Given the description of an element on the screen output the (x, y) to click on. 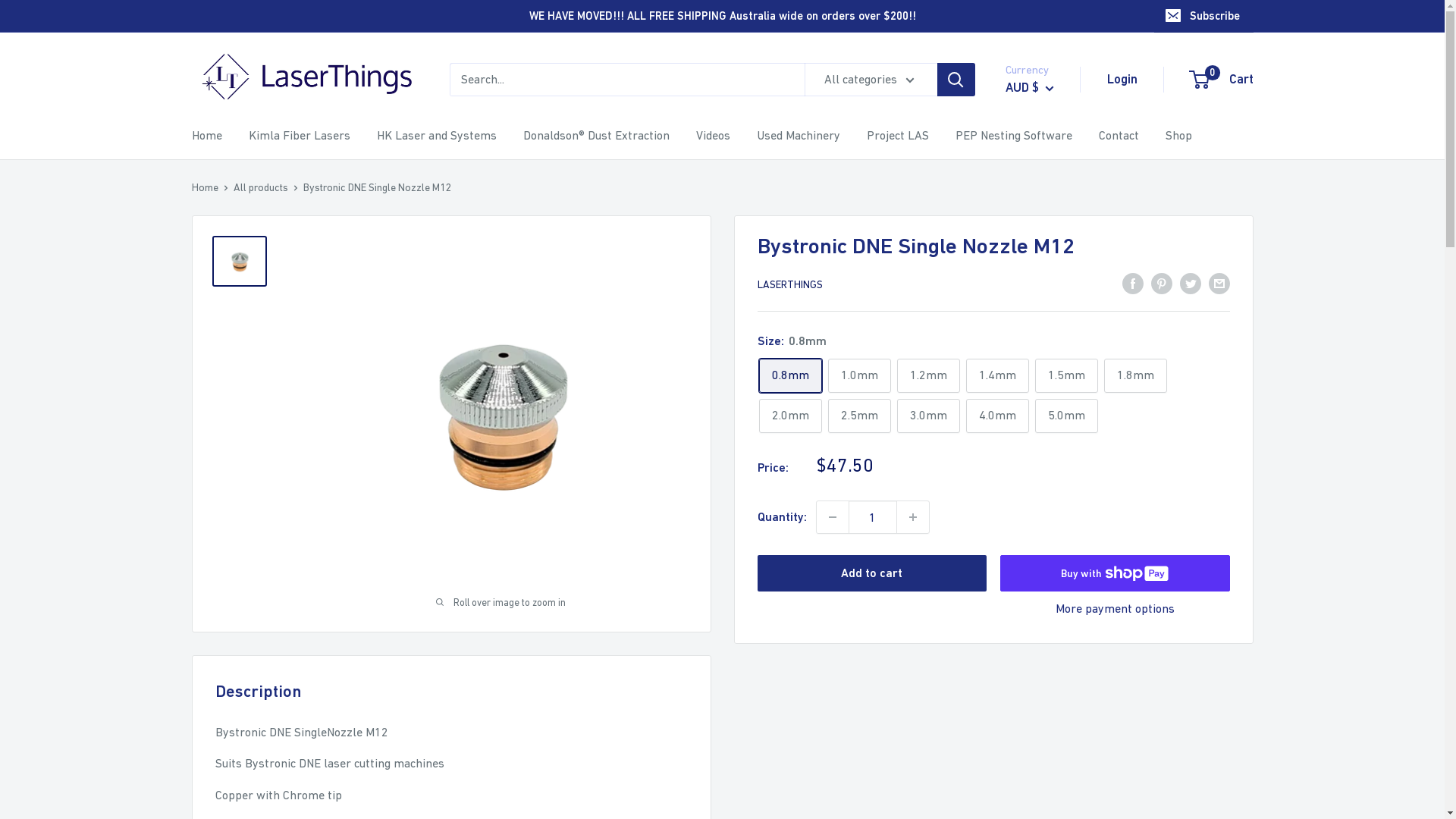
BDT Element type: text (229, 67)
GYD Element type: text (229, 629)
BND Element type: text (1051, 566)
AUD Element type: text (1051, 380)
GMD Element type: text (229, 569)
BSD Element type: text (229, 167)
Used Machinery Element type: text (798, 135)
BWP Element type: text (1051, 635)
Home Element type: text (206, 135)
AED Element type: text (1051, 265)
More payment options Element type: text (1115, 608)
EUR Element type: text (229, 489)
CRC Element type: text (1051, 774)
Subscribe Element type: text (1203, 15)
GTQ Element type: text (229, 610)
INR Element type: text (229, 750)
Contact Element type: text (1118, 135)
JMD Element type: text (229, 790)
All products Element type: text (260, 187)
CAD Element type: text (1051, 681)
DZD Element type: text (229, 428)
HK Laser and Systems Element type: text (435, 135)
Shop Element type: text (1177, 135)
BZD Element type: text (1051, 658)
IDR Element type: text (229, 710)
CDF Element type: text (1051, 705)
Increase quantity by 1 Element type: hover (912, 517)
BOB Element type: text (1051, 589)
BBD Element type: text (1051, 473)
FJD Element type: text (229, 509)
BZD Element type: text (229, 208)
Decrease quantity by 1 Element type: hover (831, 517)
ILS Element type: text (229, 729)
Login Element type: text (1122, 79)
BWP Element type: text (229, 188)
0
Cart Element type: text (1221, 79)
DJF Element type: text (229, 368)
Add to cart Element type: text (871, 573)
EGP Element type: text (229, 449)
AMD Element type: text (1051, 334)
BOB Element type: text (229, 148)
CHF Element type: text (1051, 727)
ANG Element type: text (1051, 357)
PEP Nesting Software Element type: text (1013, 135)
CVE Element type: text (1051, 797)
BND Element type: text (229, 127)
Project LAS Element type: text (897, 135)
BIF Element type: text (229, 108)
CNY Element type: text (229, 288)
Kimla Fiber Lasers Element type: text (299, 135)
AUD $ Element type: text (1029, 87)
CHF Element type: text (229, 268)
CRC Element type: text (229, 309)
BAM Element type: text (229, 27)
BAM Element type: text (1051, 450)
AZN Element type: text (1051, 426)
FKP Element type: text (229, 529)
AFN Element type: text (1051, 288)
ETB Element type: text (229, 469)
BGN Element type: text (229, 88)
DKK Element type: text (229, 389)
CZK Element type: text (229, 349)
HNL Element type: text (229, 669)
Videos Element type: text (713, 135)
CVE Element type: text (229, 328)
LASERTHINGS Element type: text (789, 284)
AWG Element type: text (1051, 404)
ISK Element type: text (229, 770)
CDF Element type: text (229, 248)
CNY Element type: text (1051, 751)
GBP Element type: text (229, 549)
GNF Element type: text (229, 589)
LaserThings Element type: text (304, 79)
ALL Element type: text (1051, 311)
BDT Element type: text (1051, 496)
BSD Element type: text (1051, 612)
HKD Element type: text (229, 650)
BIF Element type: text (1051, 542)
HUF Element type: text (229, 690)
BGN Element type: text (1051, 519)
Home Element type: text (204, 187)
DOP Element type: text (229, 409)
CAD Element type: text (229, 228)
BBD Element type: text (229, 48)
